Given the description of an element on the screen output the (x, y) to click on. 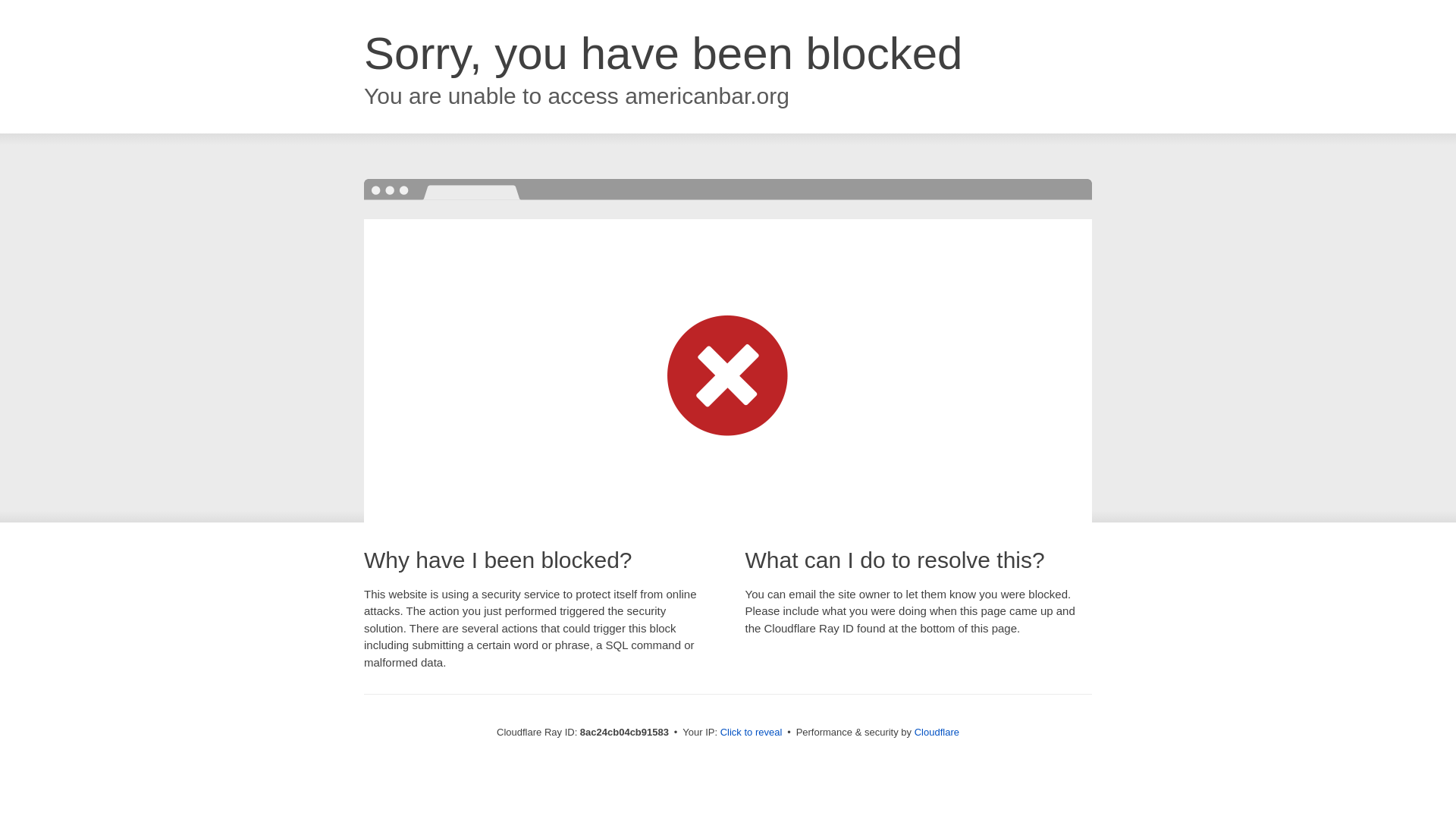
Click to reveal (751, 732)
Cloudflare (936, 731)
